Given the description of an element on the screen output the (x, y) to click on. 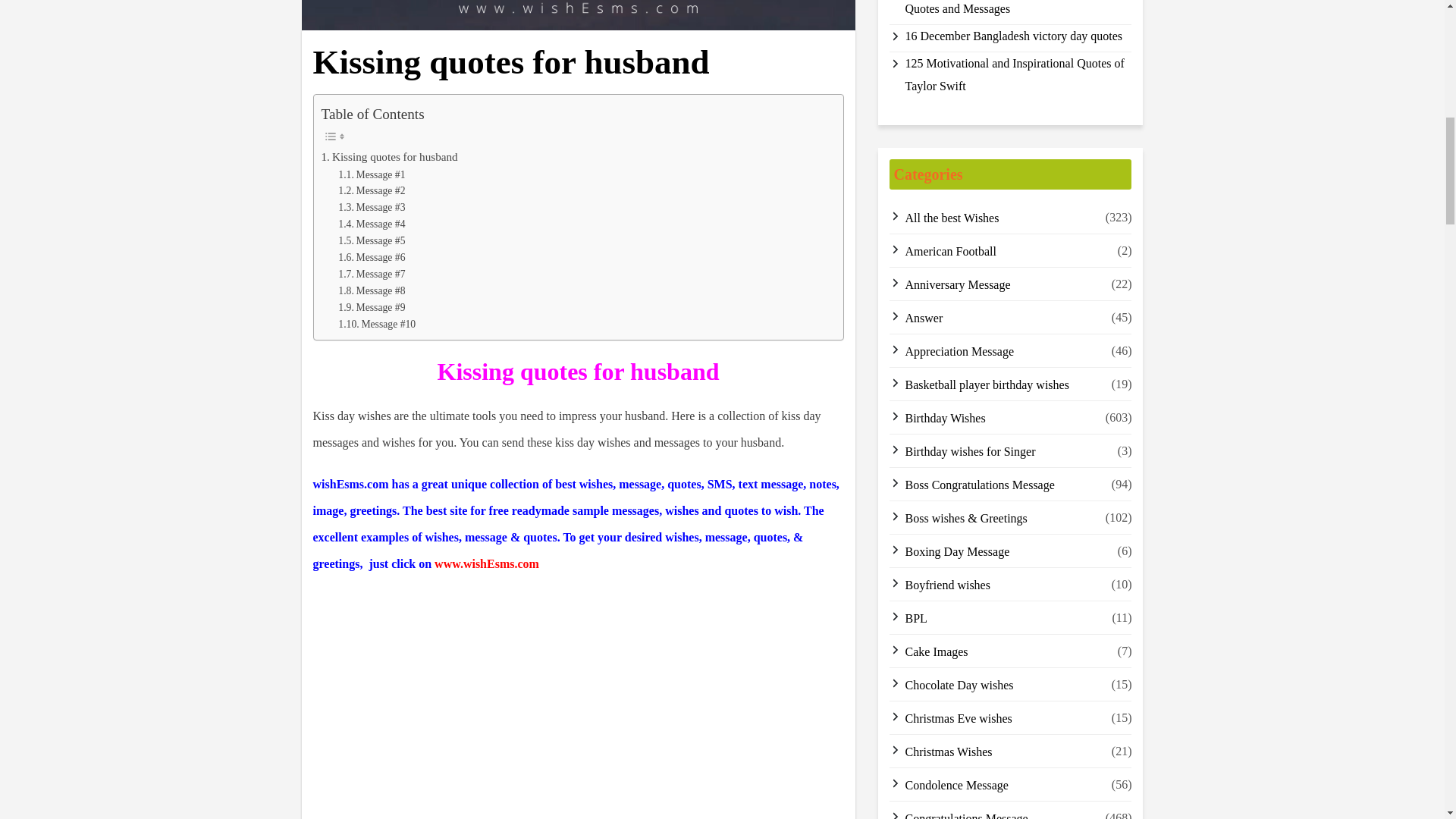
www.wishEsms.com (485, 563)
Kissing quotes for husband (389, 157)
Kissing quotes for husband (389, 157)
